Given the description of an element on the screen output the (x, y) to click on. 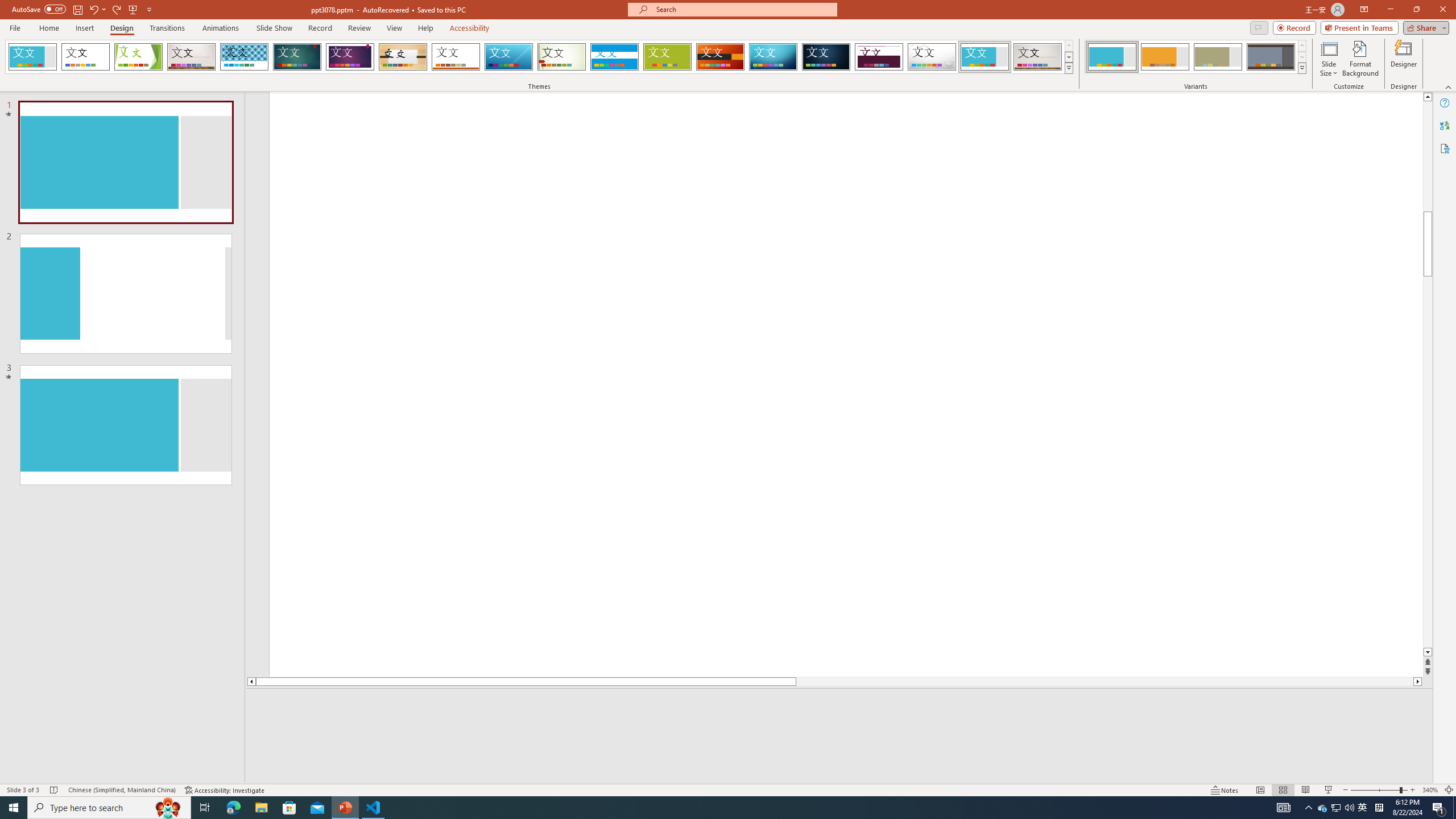
Wisp (561, 56)
Subtitle TextBox (957, 569)
AutomationID: ThemeVariantsGallery (1195, 56)
TextBox 7 (1417, 163)
